Given the description of an element on the screen output the (x, y) to click on. 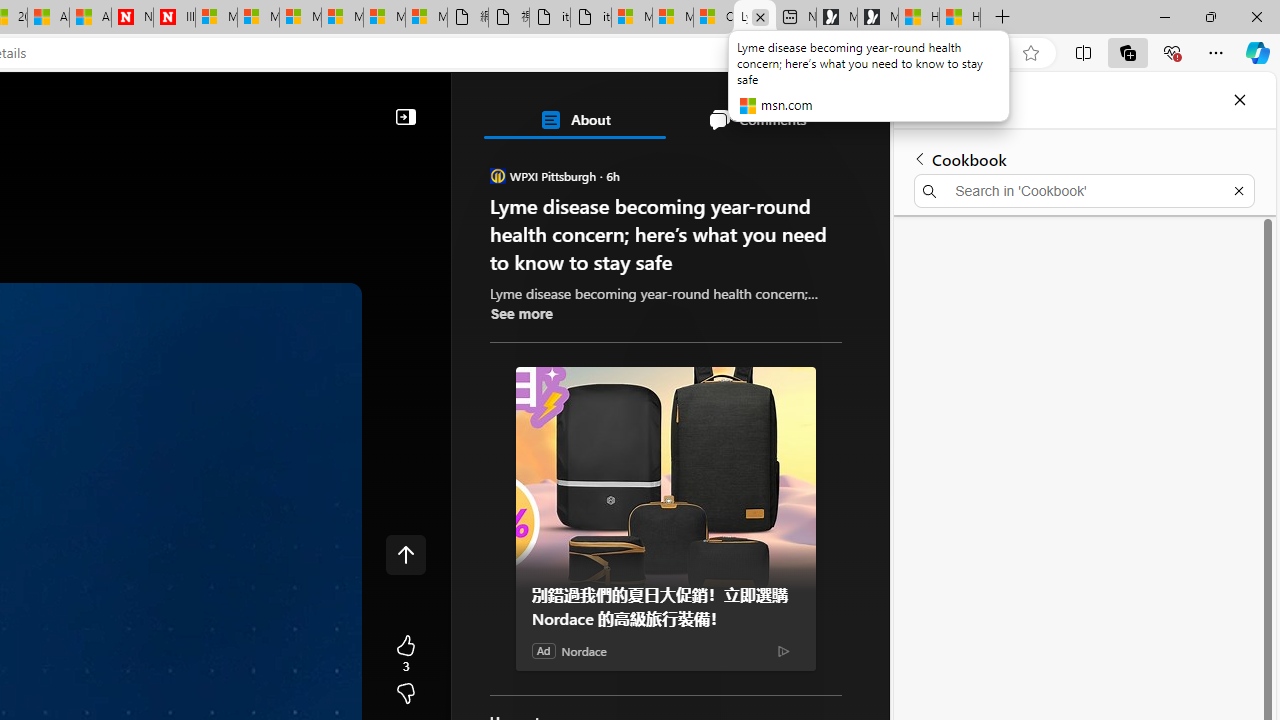
How to Use a TV as a Computer Monitor (959, 17)
Back to list of collections (920, 158)
3 Like (406, 653)
Nordace (583, 651)
Ad (543, 650)
Class: control icon-only (406, 554)
Minimize (1164, 16)
Settings and more (Alt+F) (1215, 52)
WPXI Pittsburgh (497, 175)
Notifications (804, 105)
Open Copilot (162, 105)
Exit search (1238, 190)
